Given the description of an element on the screen output the (x, y) to click on. 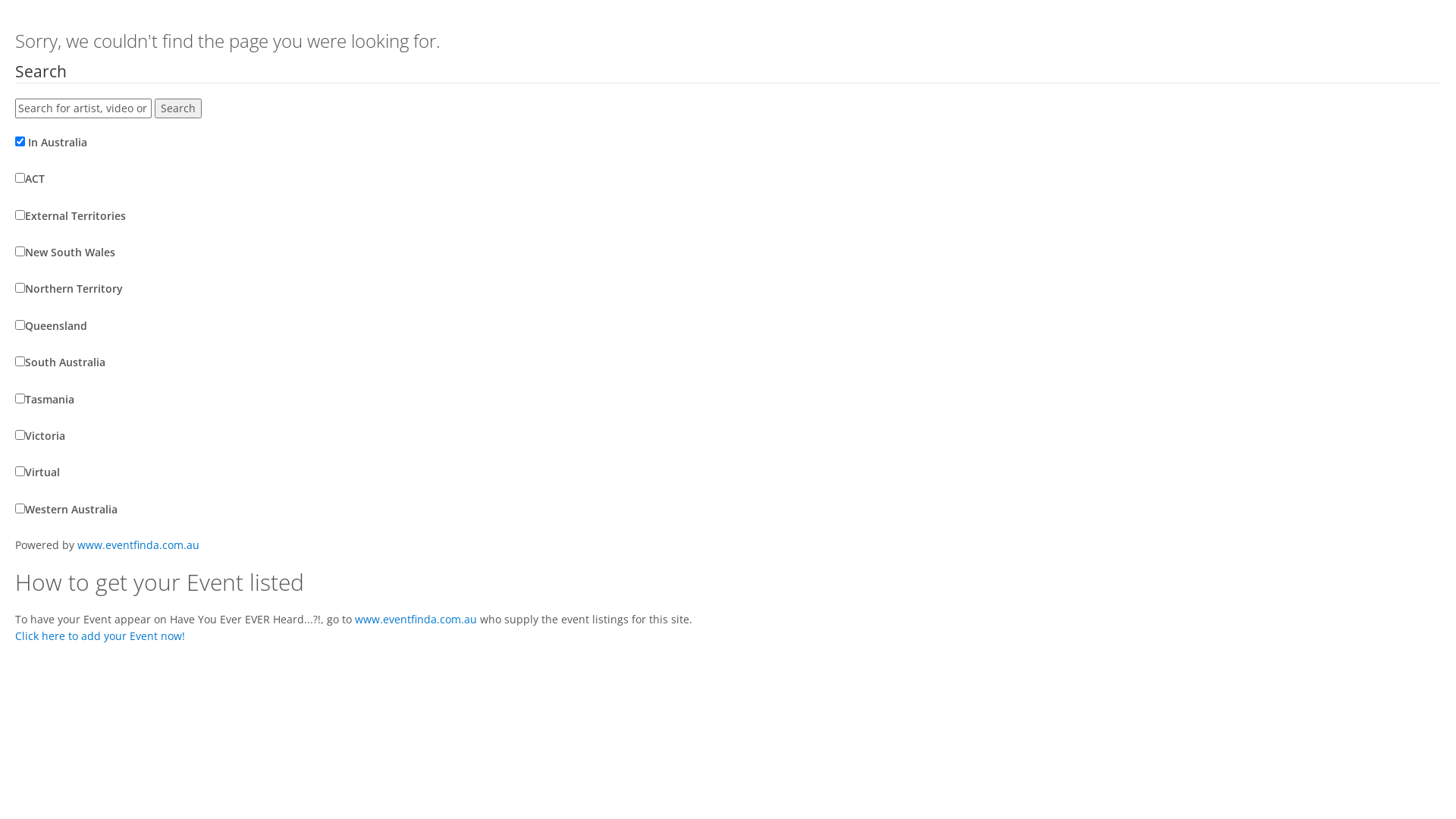
www.eventfinda.com.au Element type: text (415, 618)
Search Element type: text (177, 108)
www.eventfinda.com.au Element type: text (138, 544)
Click here to add your Event now! Element type: text (100, 635)
